Given the description of an element on the screen output the (x, y) to click on. 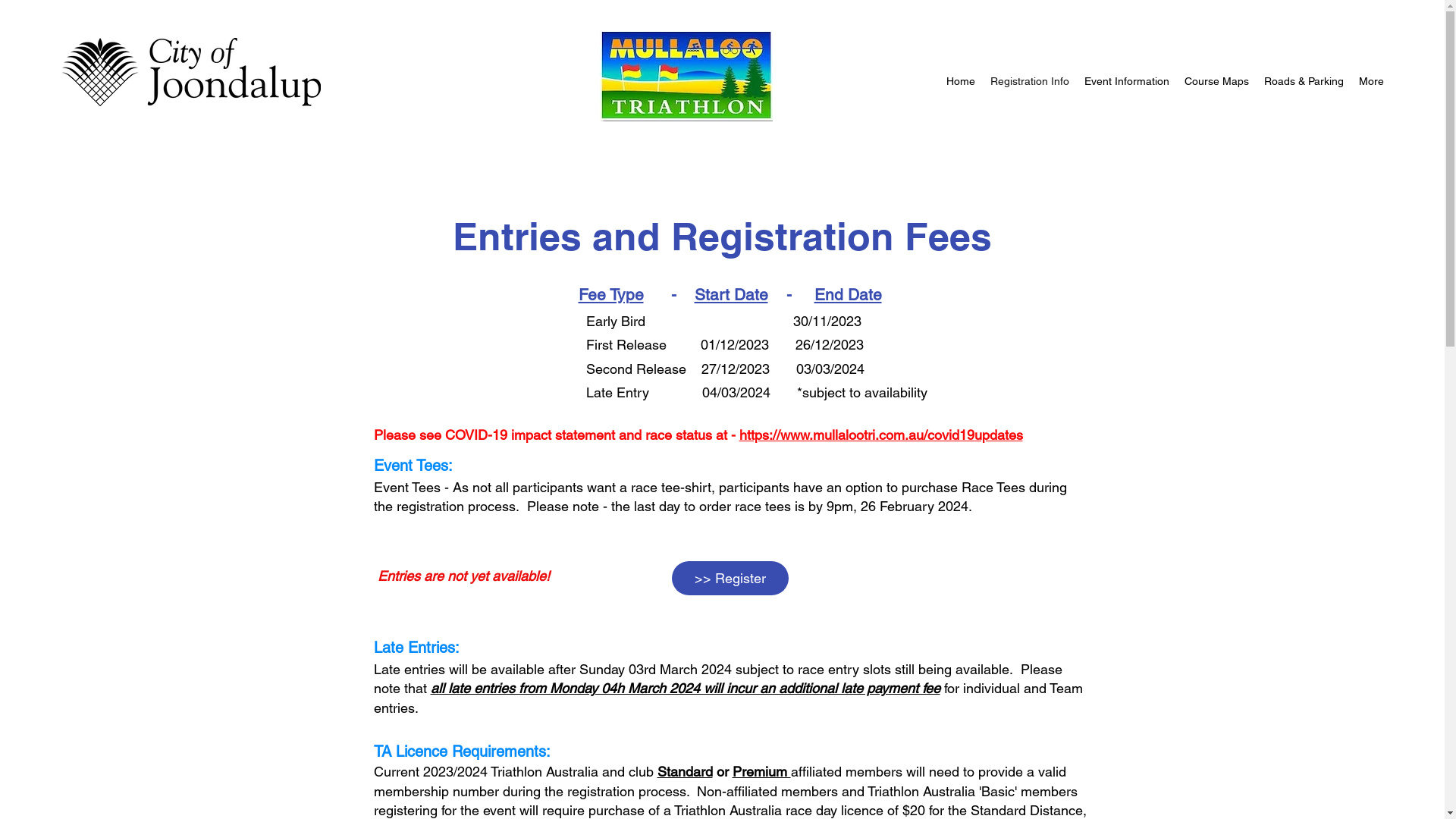
Registration Info Element type: text (1029, 81)
>> Register Element type: text (729, 578)
Home Element type: text (960, 81)
https://www.mullalootri.com.au/covid19updates Element type: text (880, 434)
Course Maps Element type: text (1216, 81)
